Given the description of an element on the screen output the (x, y) to click on. 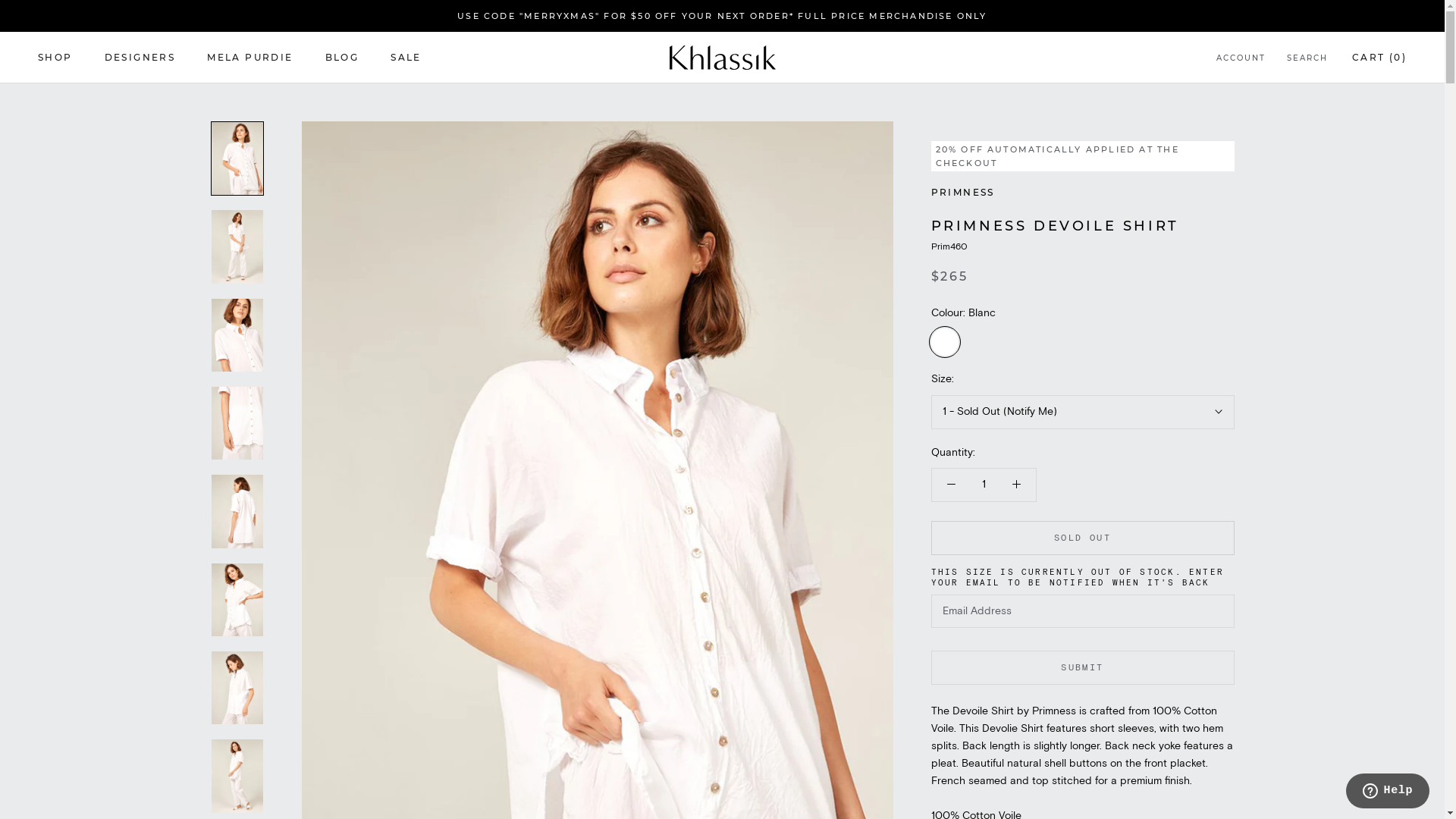
1 - Sold Out (Notify Me) Element type: text (1082, 412)
SOLD OUT Element type: text (1082, 537)
ACCOUNT Element type: text (1240, 58)
CART (0) Element type: text (1379, 56)
SHOP
SHOP Element type: text (54, 56)
BLOG
BLOG Element type: text (342, 56)
Opens a widget where you can chat to one of our agents Element type: hover (1387, 792)
SEARCH Element type: text (1306, 58)
MELA PURDIE Element type: text (249, 56)
DESIGNERS
DESIGNERS Element type: text (139, 56)
PRIMNESS Element type: text (962, 191)
SALE Element type: text (405, 56)
SUBMIT Element type: text (1082, 667)
